Given the description of an element on the screen output the (x, y) to click on. 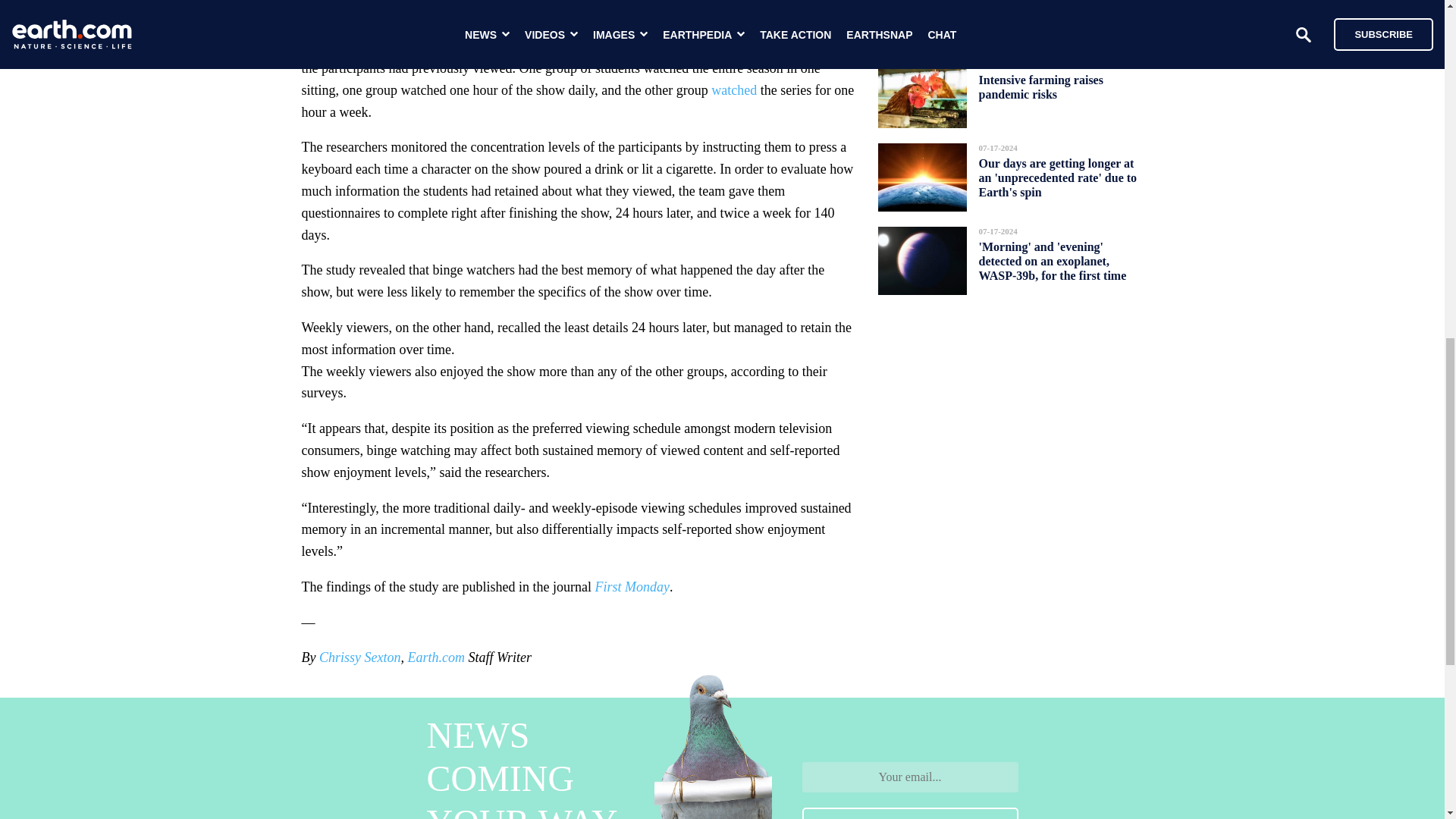
SUBSCRIBE (909, 813)
First Monday (631, 586)
Intensive farming raises pandemic risks (1040, 87)
watched (734, 89)
Chrissy Sexton (359, 657)
Earth.com (435, 657)
